Given the description of an element on the screen output the (x, y) to click on. 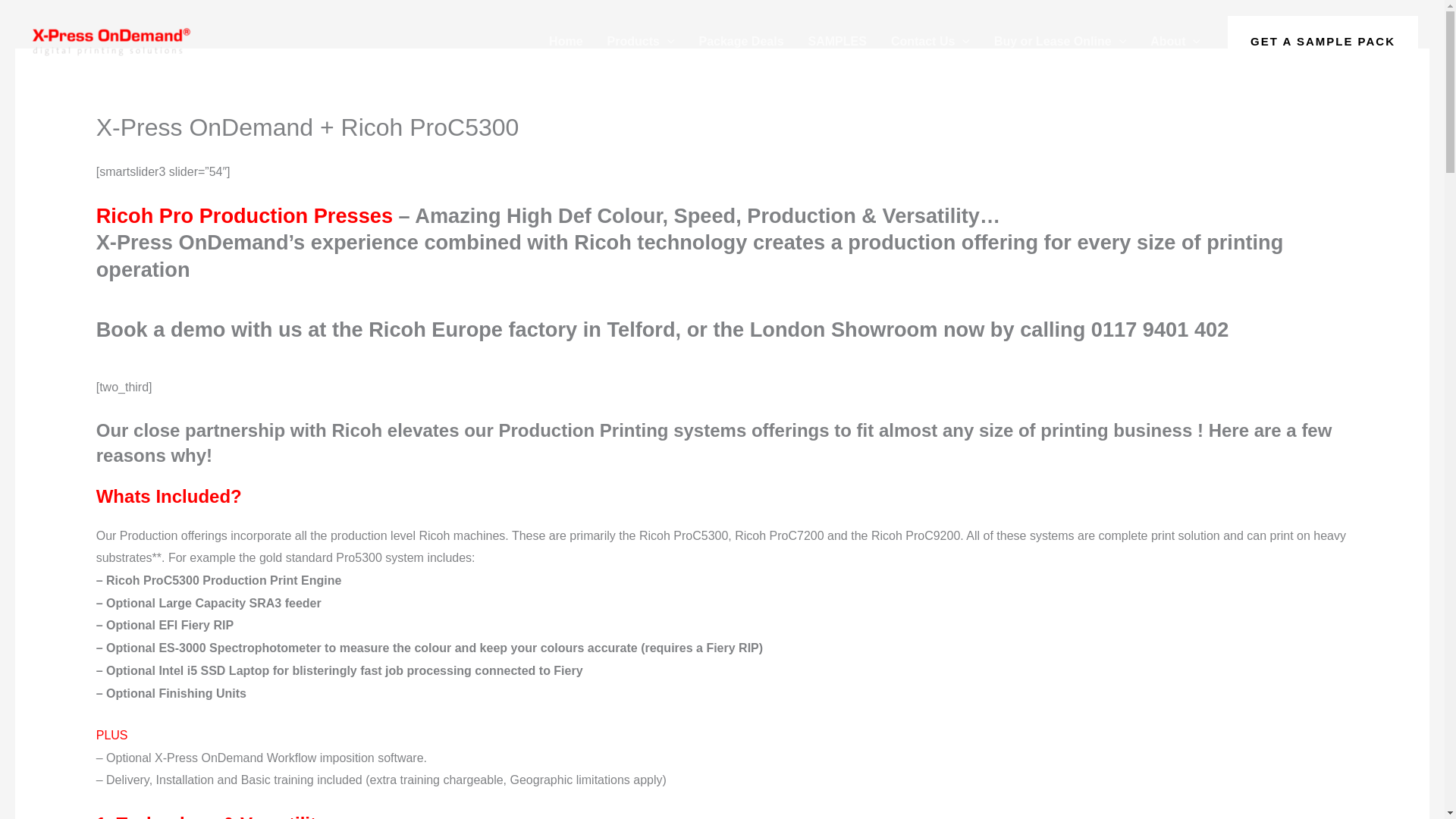
GET A SAMPLE PACK (1322, 41)
About (1175, 41)
Contact Us (930, 41)
SAMPLES (837, 41)
Package Deals (739, 41)
Products (641, 41)
Buy or Lease Online (1059, 41)
